Given the description of an element on the screen output the (x, y) to click on. 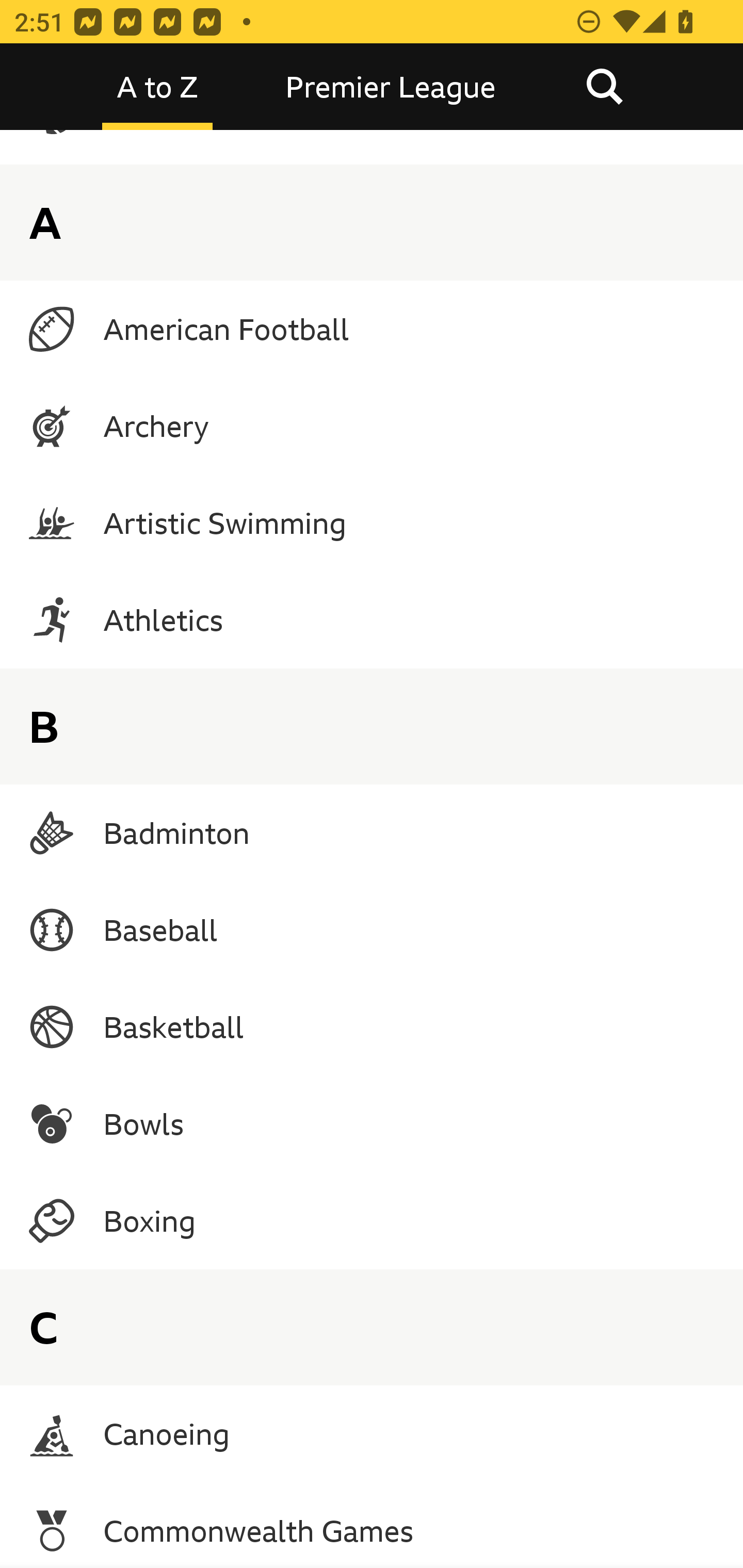
Premier League (390, 86)
Search (604, 86)
American Football (371, 328)
Archery (371, 426)
Artistic Swimming (371, 522)
Athletics (371, 618)
Badminton (371, 832)
Baseball (371, 929)
Basketball (371, 1026)
Bowls (371, 1123)
Boxing (371, 1221)
Canoeing (371, 1433)
Commonwealth Games (371, 1524)
